Given the description of an element on the screen output the (x, y) to click on. 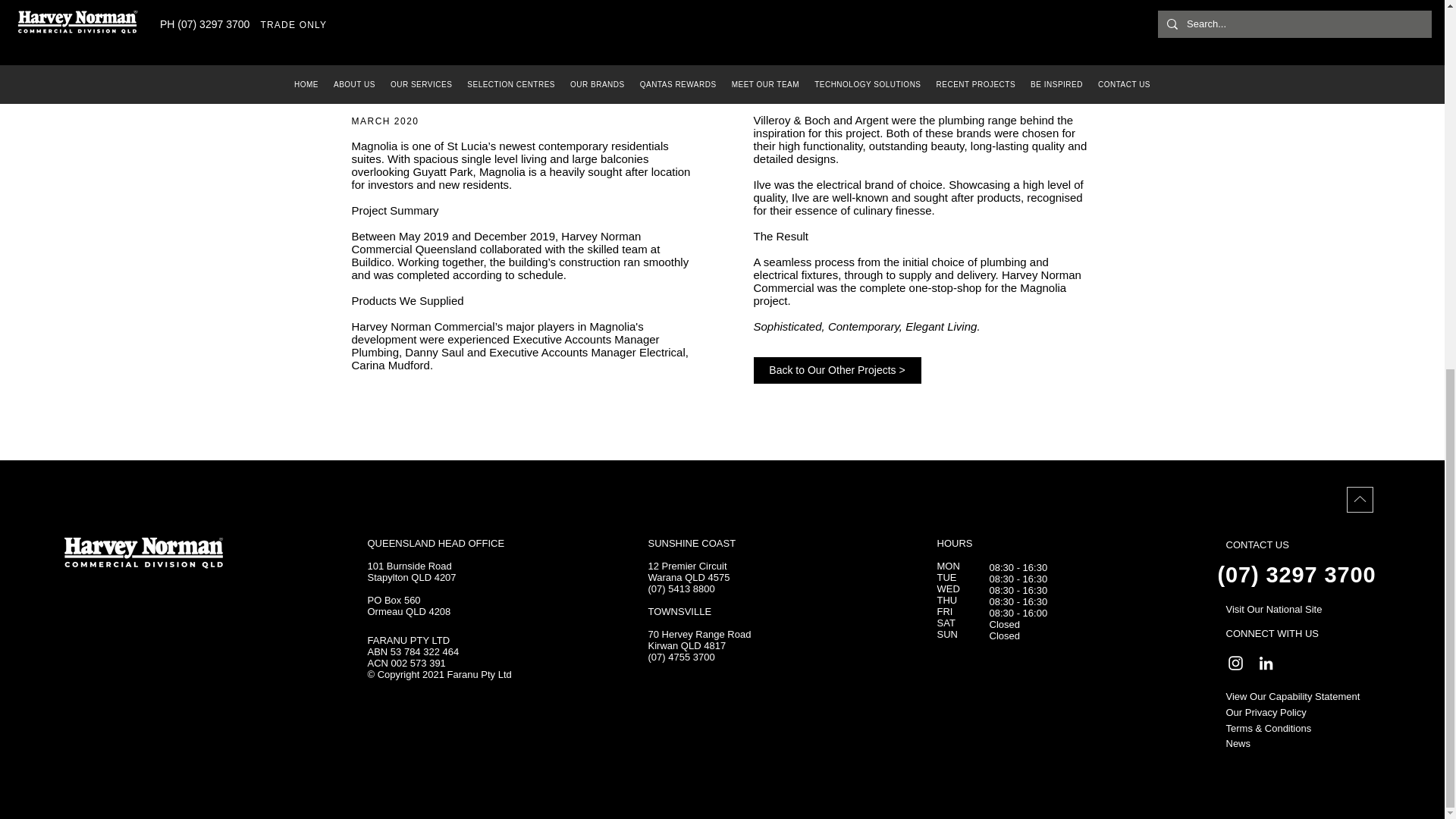
View Our Capability Statement (1292, 696)
News (1237, 743)
Our Privacy Policy (1265, 712)
Visit Our National Site  (1274, 609)
